Given the description of an element on the screen output the (x, y) to click on. 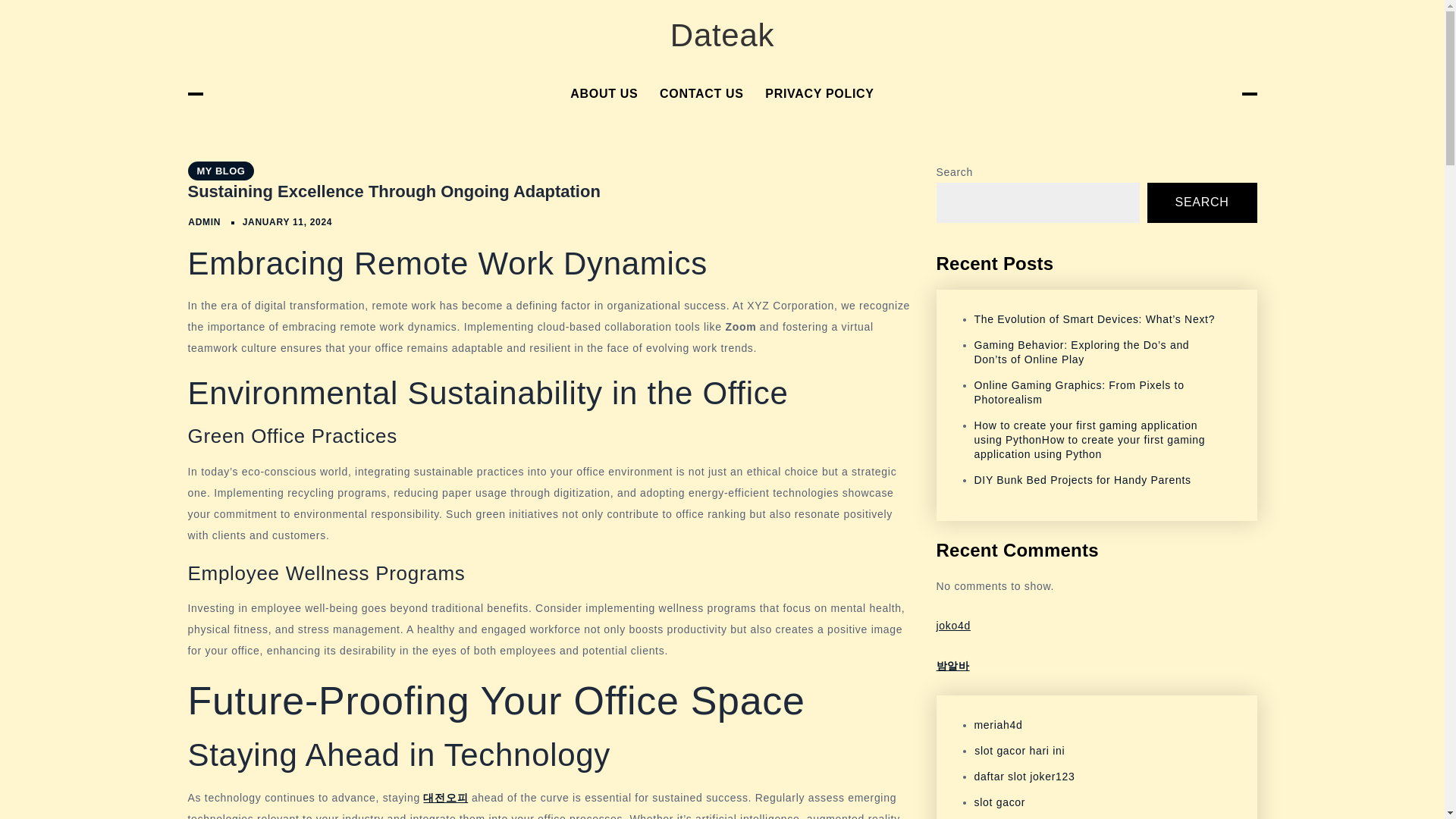
Dateak (721, 35)
SEARCH (1202, 202)
ADMIN (204, 222)
slot gacor (999, 802)
daftar slot joker123 (1024, 776)
ABOUT US (603, 94)
PRIVACY POLICY (818, 94)
joko4d (952, 625)
JANUARY 11, 2024 (288, 222)
Online Gaming Graphics: From Pixels to Photorealism (1078, 392)
meriah4d (998, 725)
MY BLOG (220, 170)
CONTACT US (701, 94)
DIY Bunk Bed Projects for Handy Parents (1082, 480)
